Given the description of an element on the screen output the (x, y) to click on. 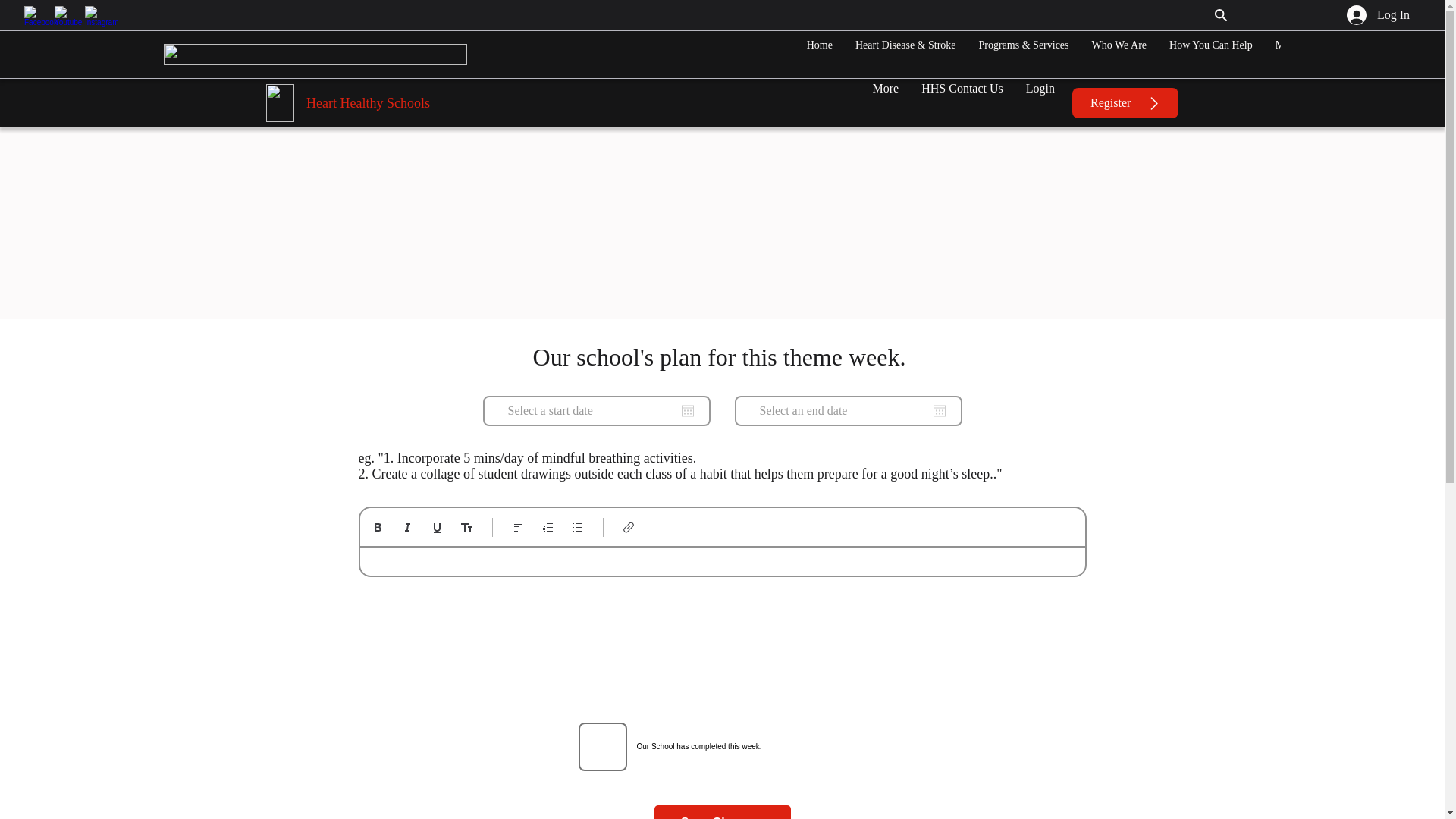
Log In (1378, 14)
Home (819, 54)
